Given the description of an element on the screen output the (x, y) to click on. 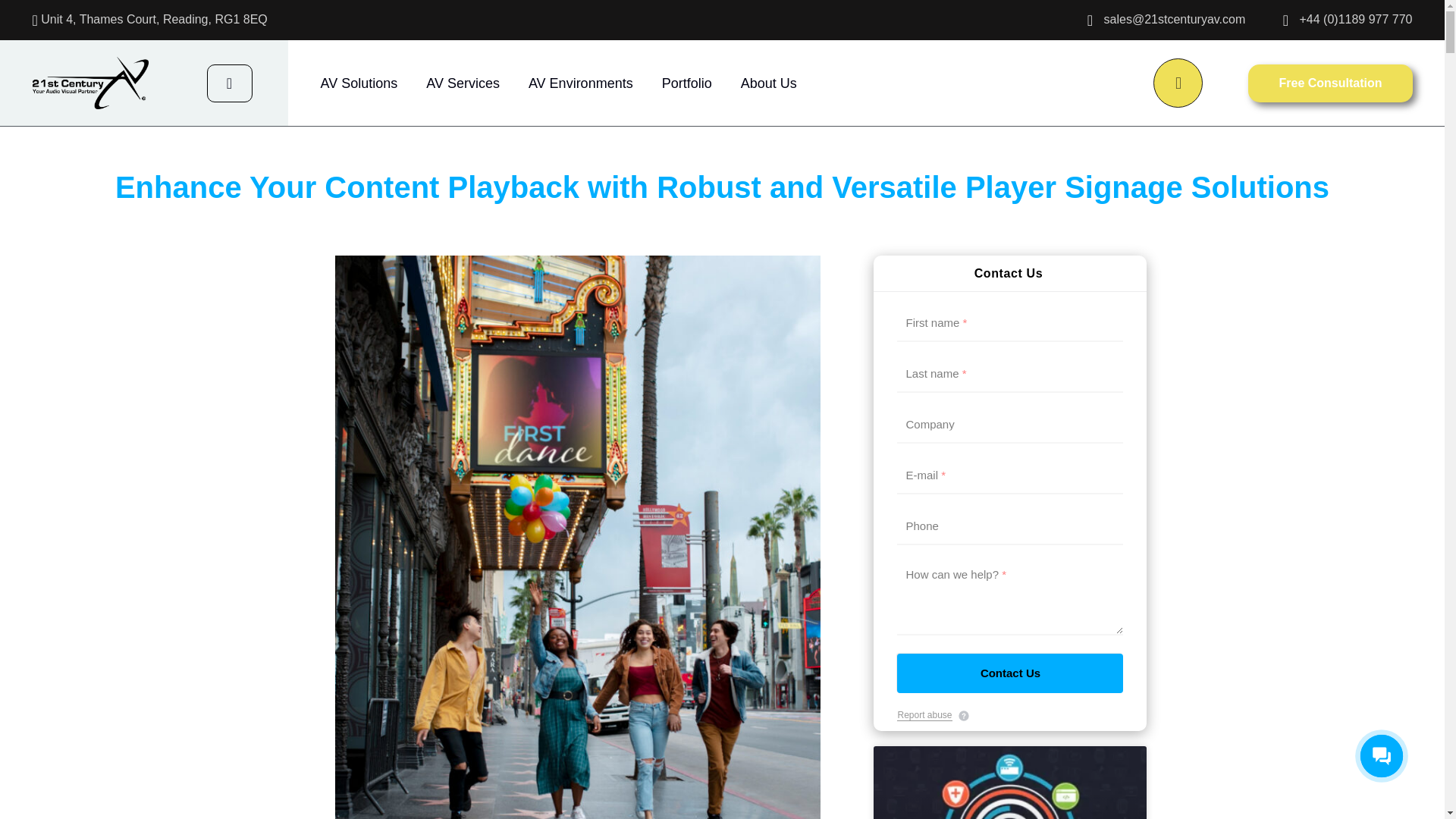
Portfolio (686, 83)
About Us (768, 83)
Header One (90, 82)
AV Services (462, 83)
AV Environments (580, 83)
AV Solutions (358, 83)
